Given the description of an element on the screen output the (x, y) to click on. 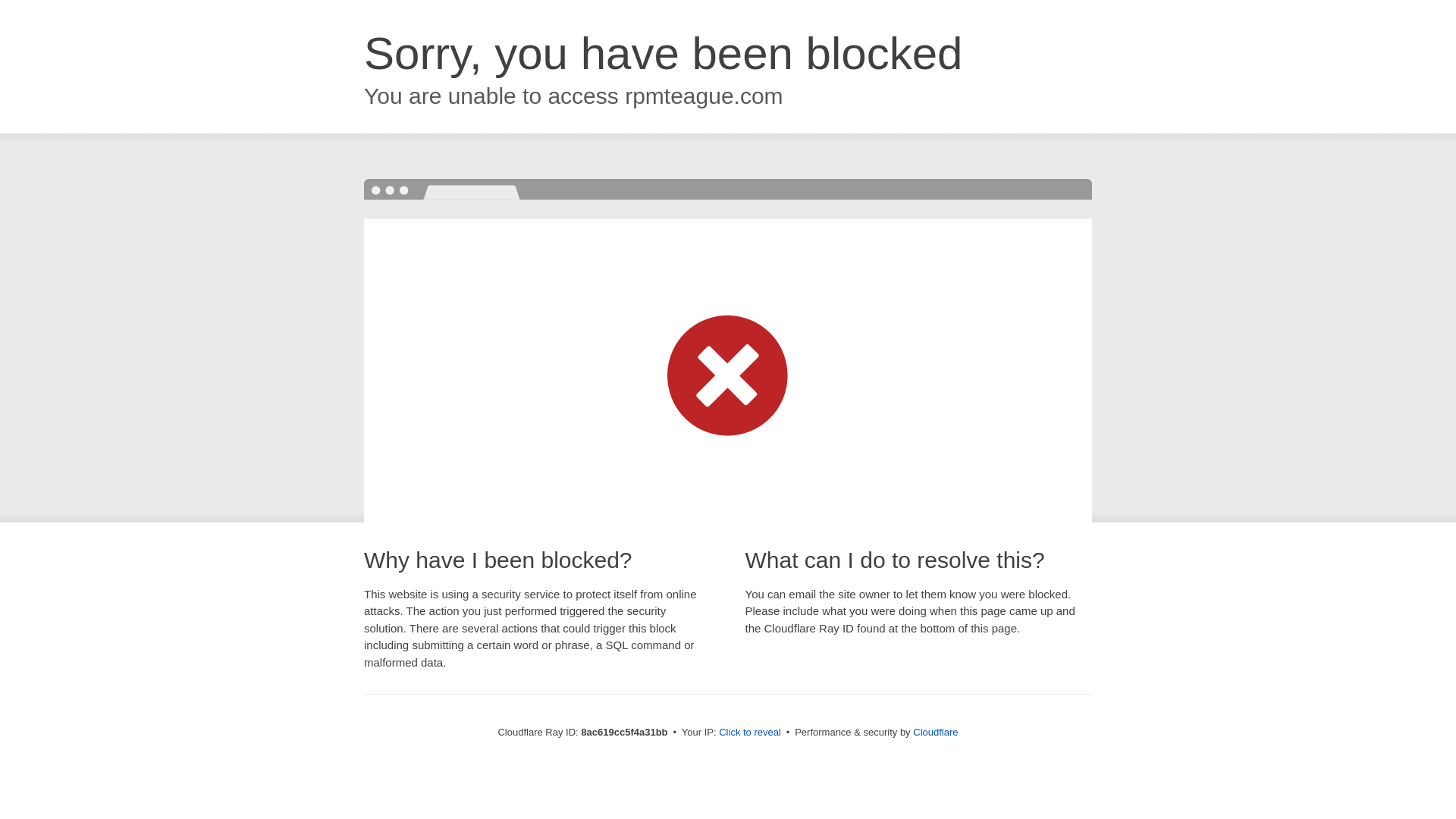
Click to reveal (749, 732)
Cloudflare (935, 731)
